Given the description of an element on the screen output the (x, y) to click on. 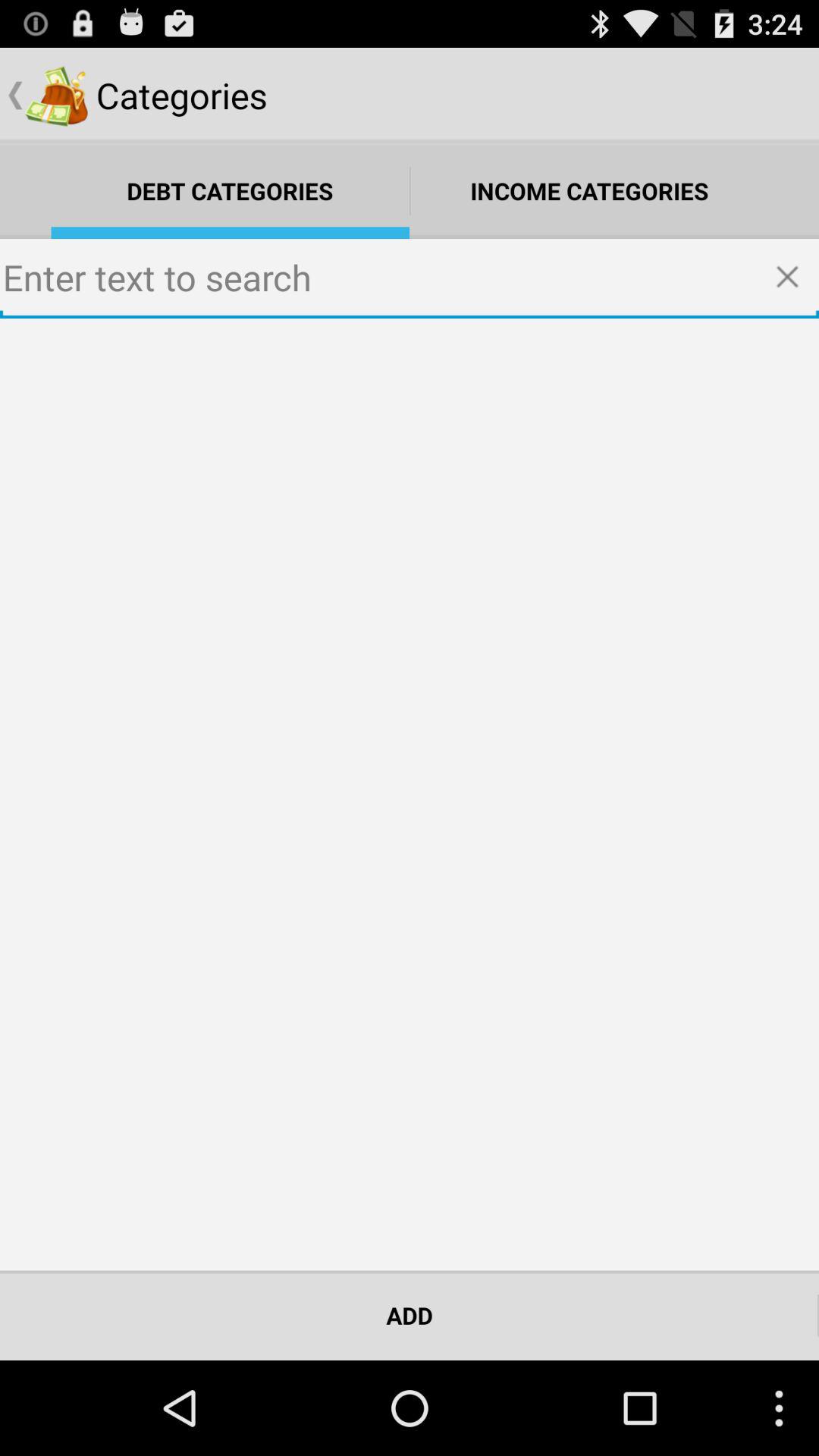
enter text to search (409, 278)
